Given the description of an element on the screen output the (x, y) to click on. 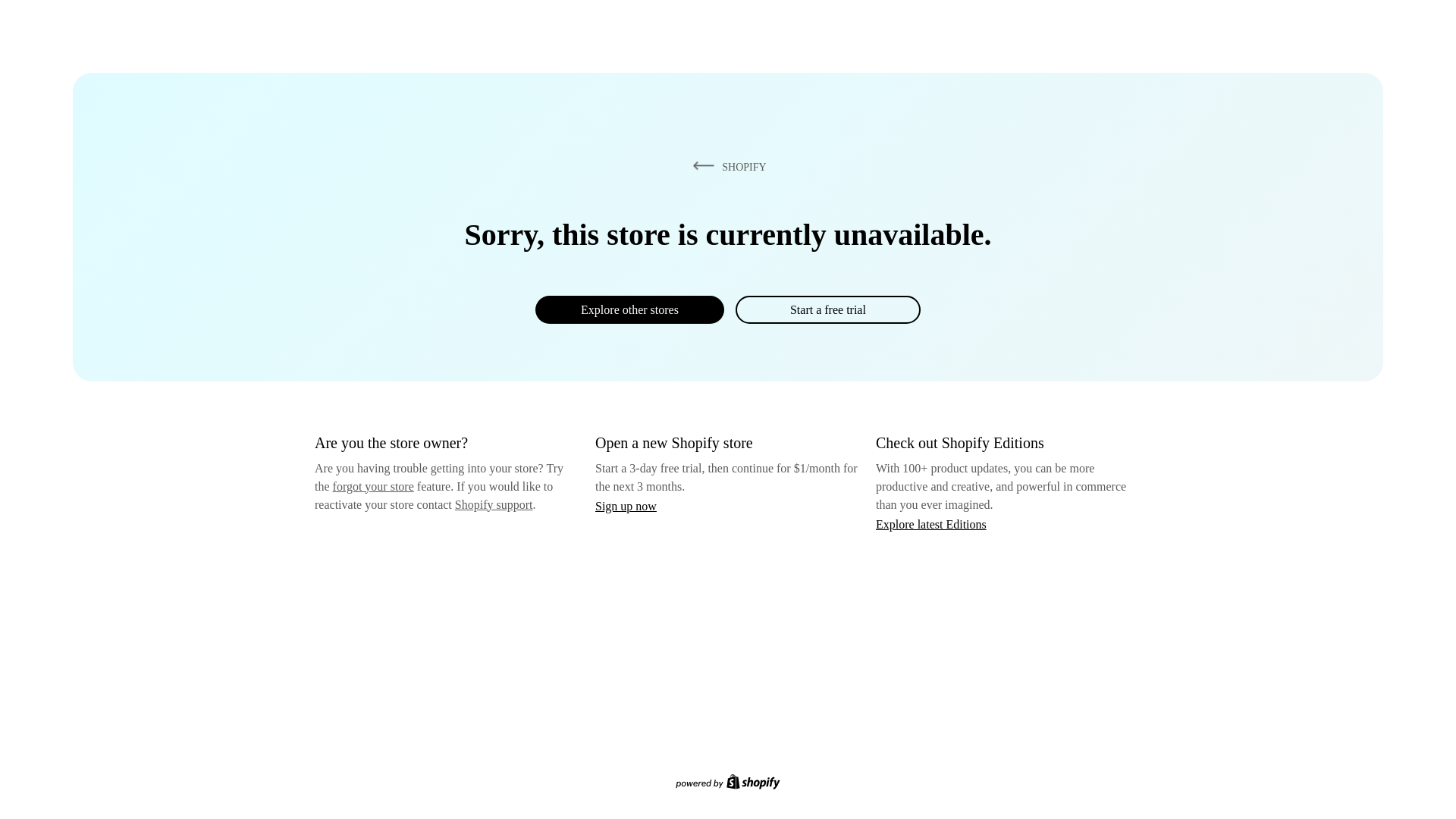
forgot your store (373, 486)
SHOPIFY (726, 166)
Sign up now (625, 505)
Explore latest Editions (931, 523)
Explore other stores (629, 309)
Start a free trial (827, 309)
Shopify support (493, 504)
